Given the description of an element on the screen output the (x, y) to click on. 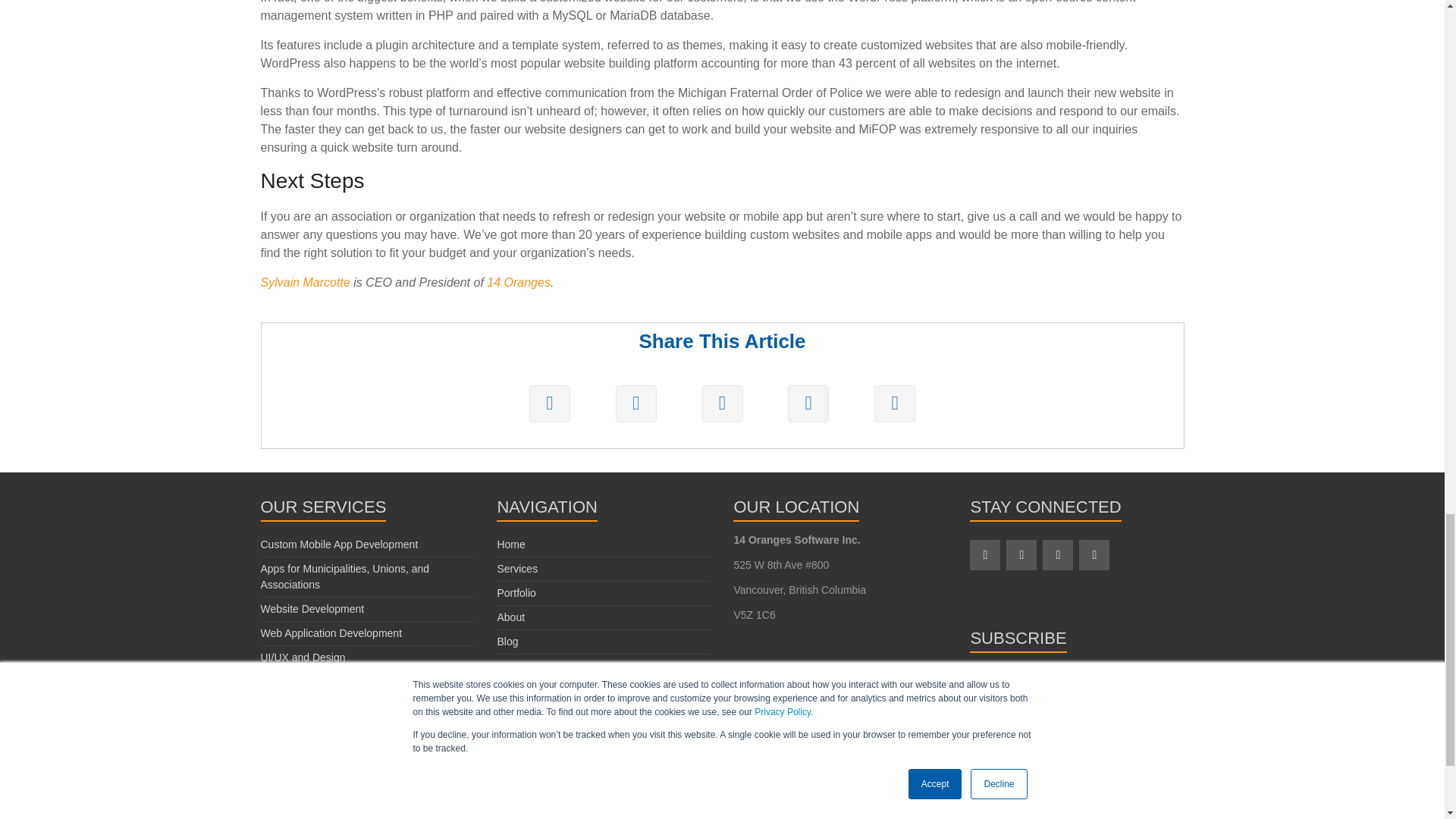
Sylvain Marcotte (305, 282)
14 Oranges (518, 282)
Form 0 (1076, 741)
